Given the description of an element on the screen output the (x, y) to click on. 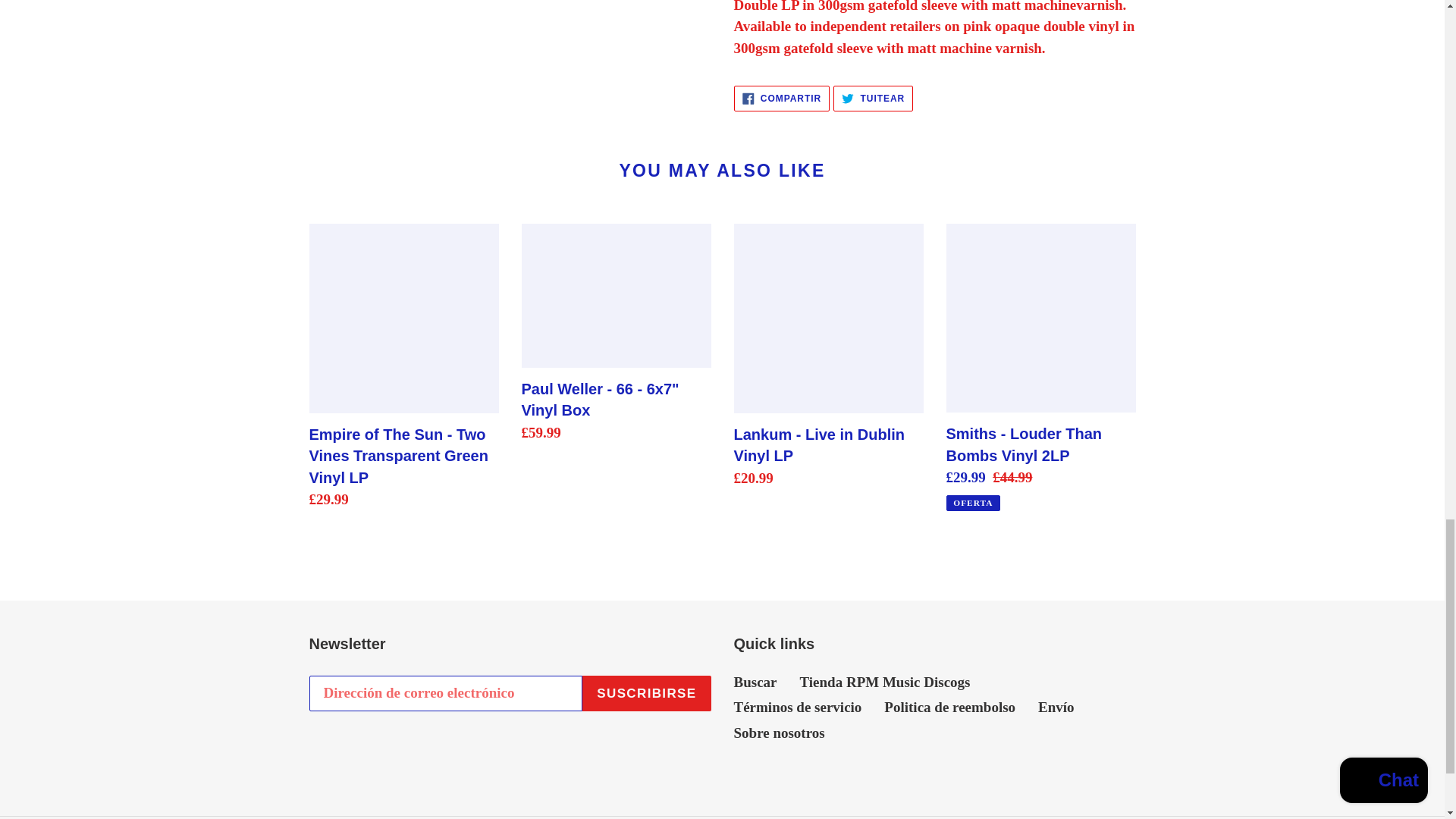
Politica de reembolso (781, 98)
Tienda RPM Music Discogs (948, 706)
SUSCRIBIRSE (884, 682)
Buscar (872, 98)
